Given the description of an element on the screen output the (x, y) to click on. 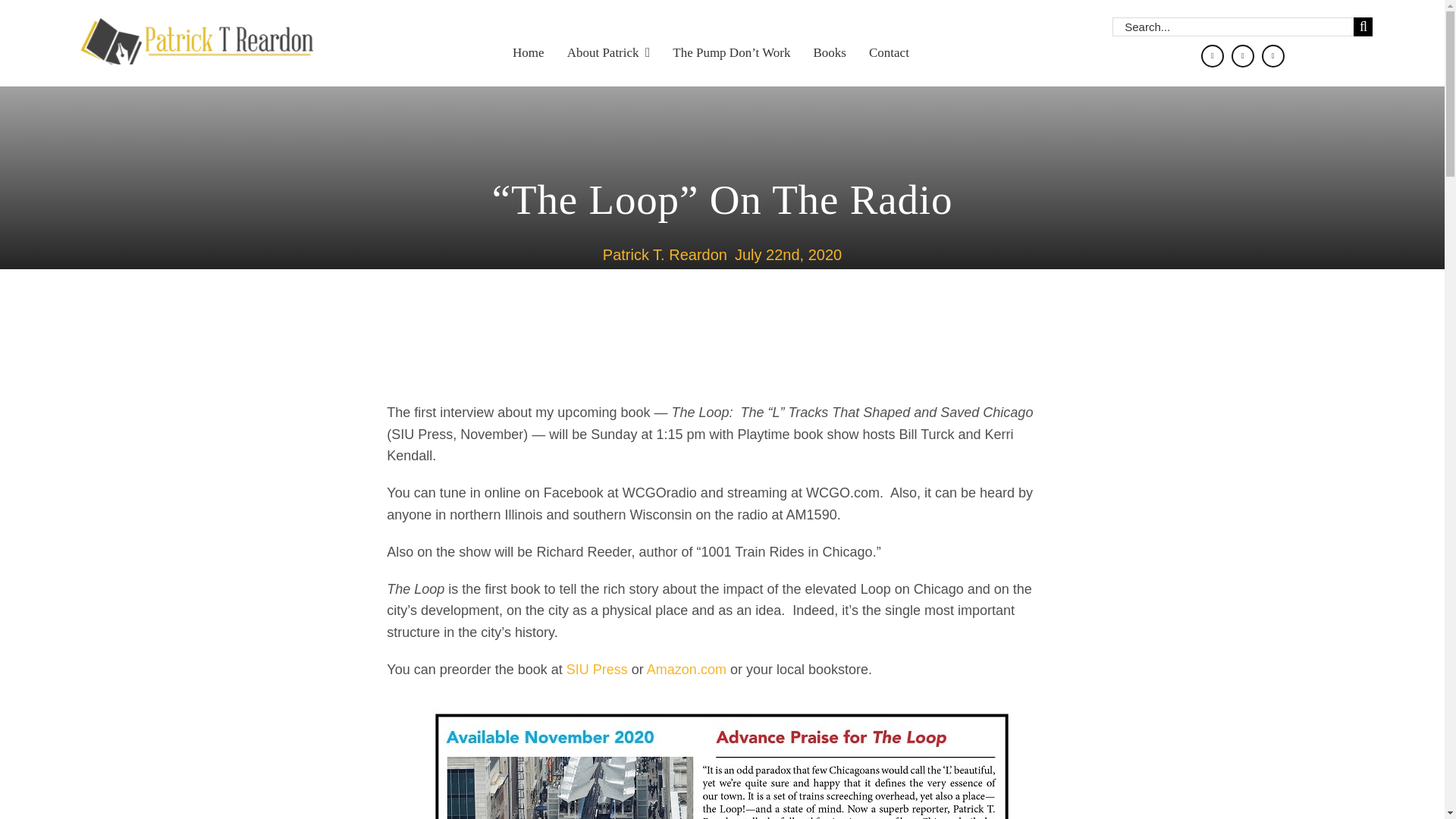
Posts by Patrick T. Reardon (664, 254)
Amazon.com (684, 669)
About Patrick (608, 42)
SIU Press (596, 669)
Patrick T. Reardon (664, 254)
